Given the description of an element on the screen output the (x, y) to click on. 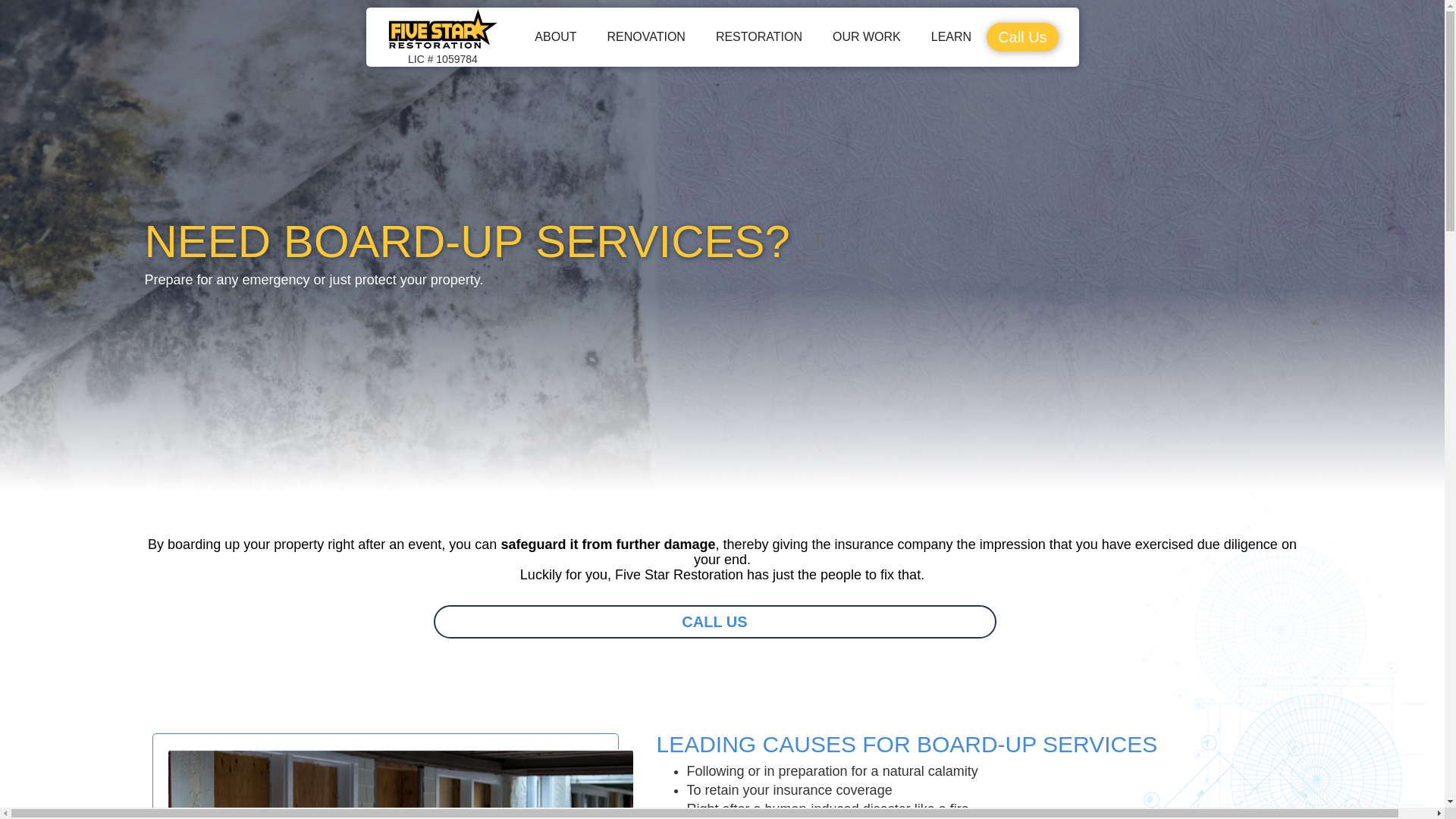
ABOUT (555, 36)
Call Us (714, 621)
RENOVATION (1022, 36)
